Given the description of an element on the screen output the (x, y) to click on. 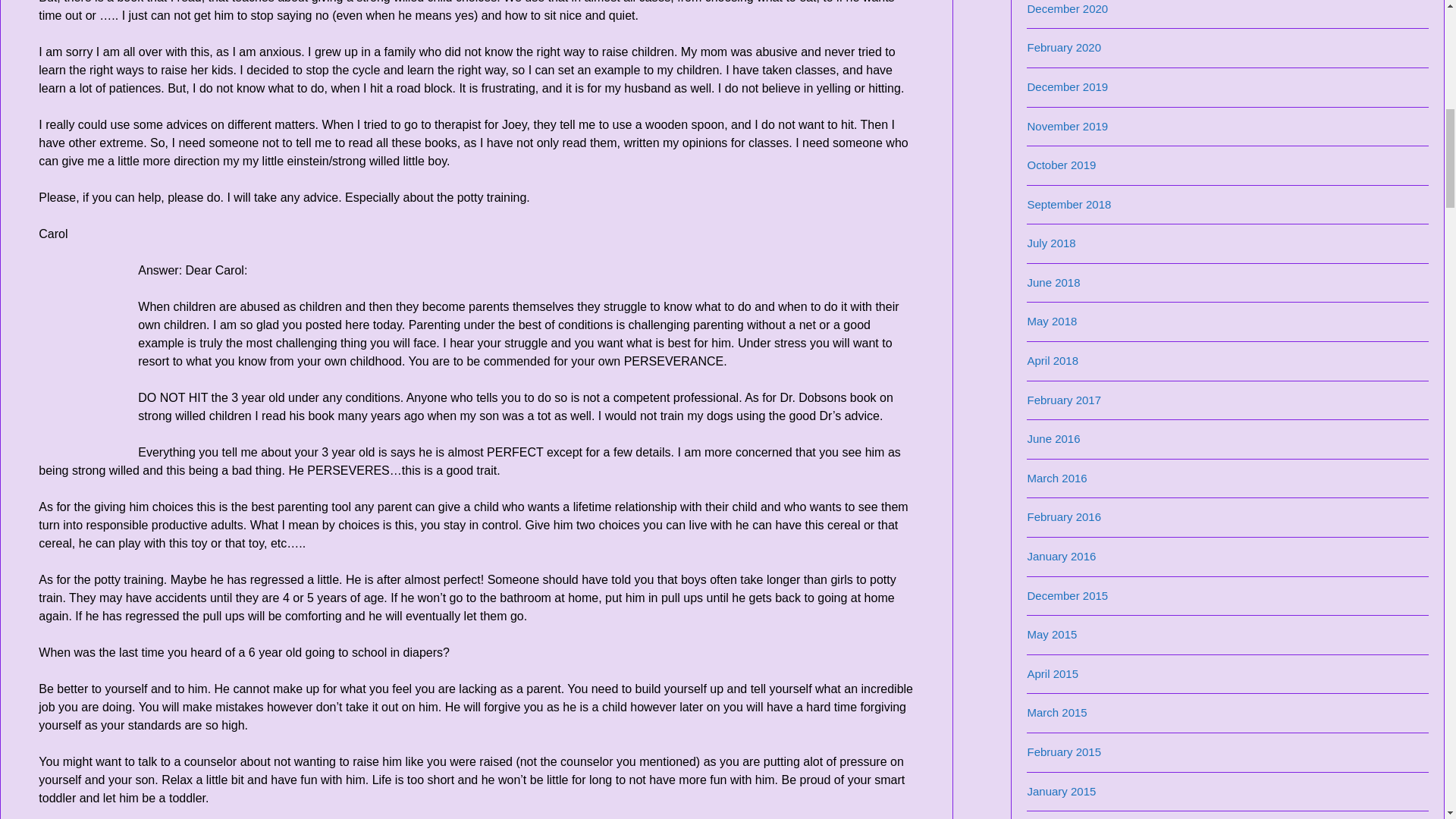
November 2019 (1067, 125)
December 2019 (1067, 86)
December 2020 (1067, 8)
February 2020 (1063, 47)
